Given the description of an element on the screen output the (x, y) to click on. 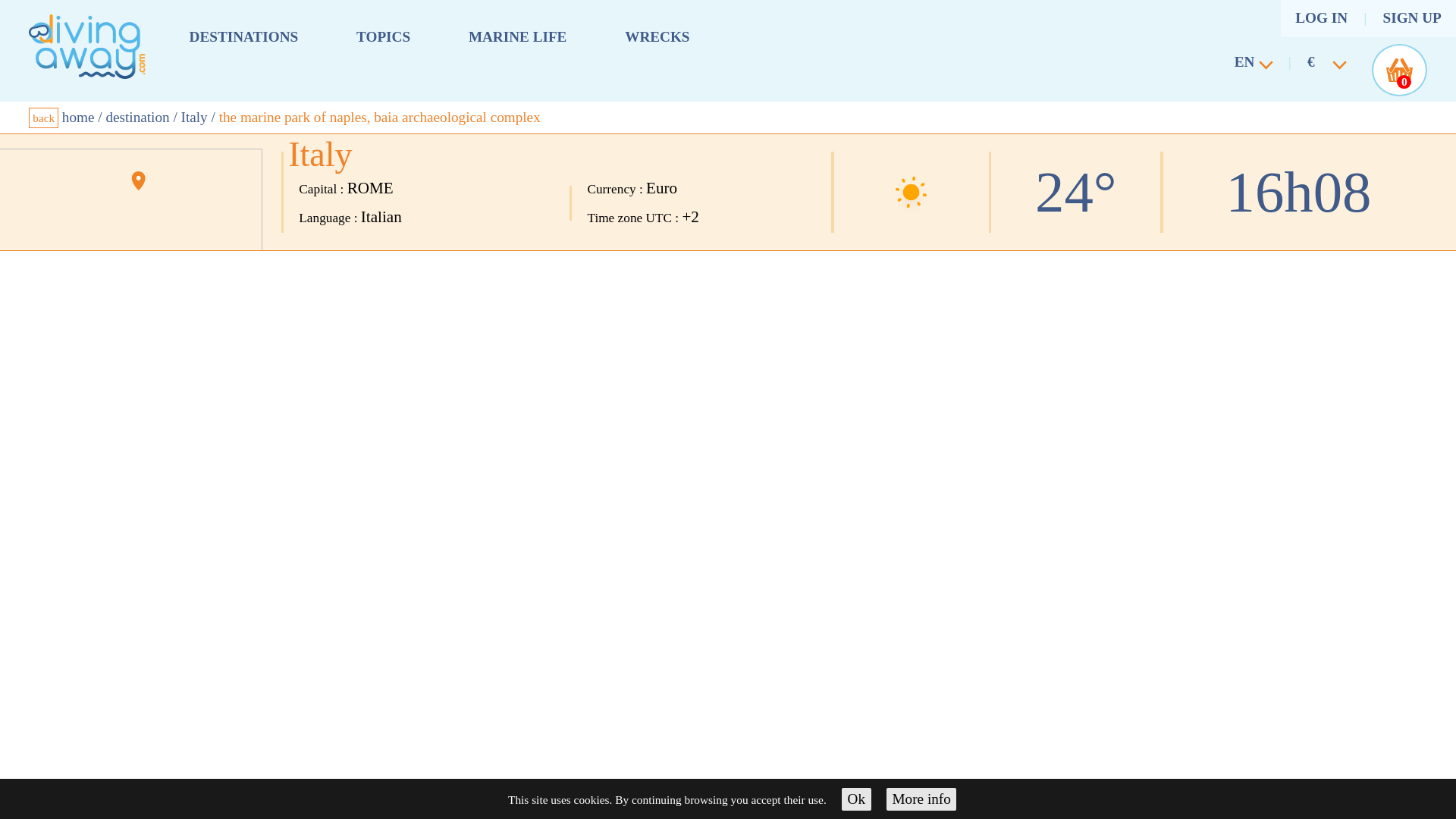
TOPICS (383, 36)
Masquer cette barre (855, 798)
EN (1247, 65)
Ok (855, 798)
home (78, 116)
DESTINATIONS (243, 36)
Italy (194, 116)
LOG IN (1321, 18)
More info (921, 798)
WRECKS (656, 36)
MARINE LIFE (517, 36)
Hide the toolbar (921, 798)
0 (1398, 70)
